Given the description of an element on the screen output the (x, y) to click on. 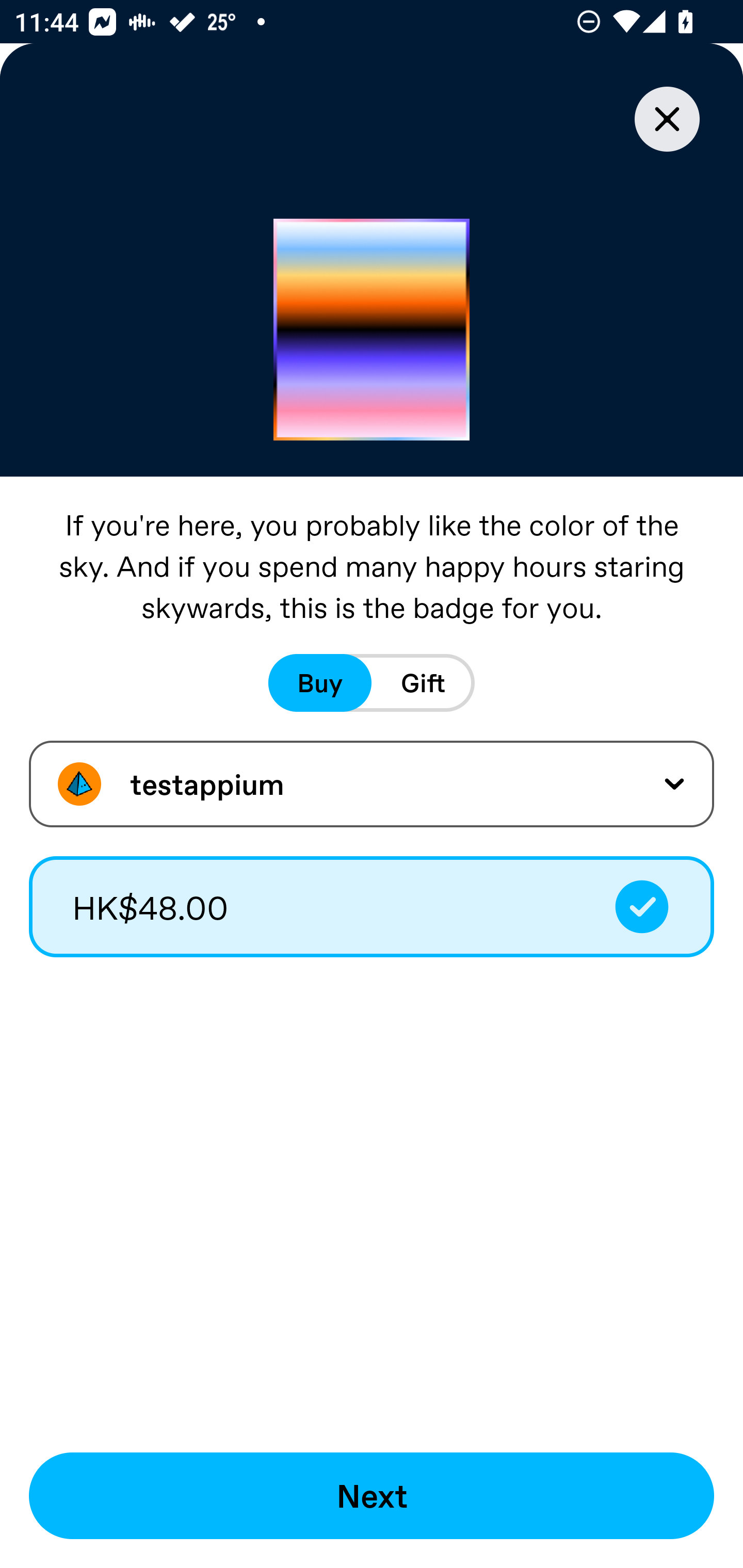
Buy (319, 682)
Gift (423, 682)
testappium (371, 783)
Next (371, 1495)
